Given the description of an element on the screen output the (x, y) to click on. 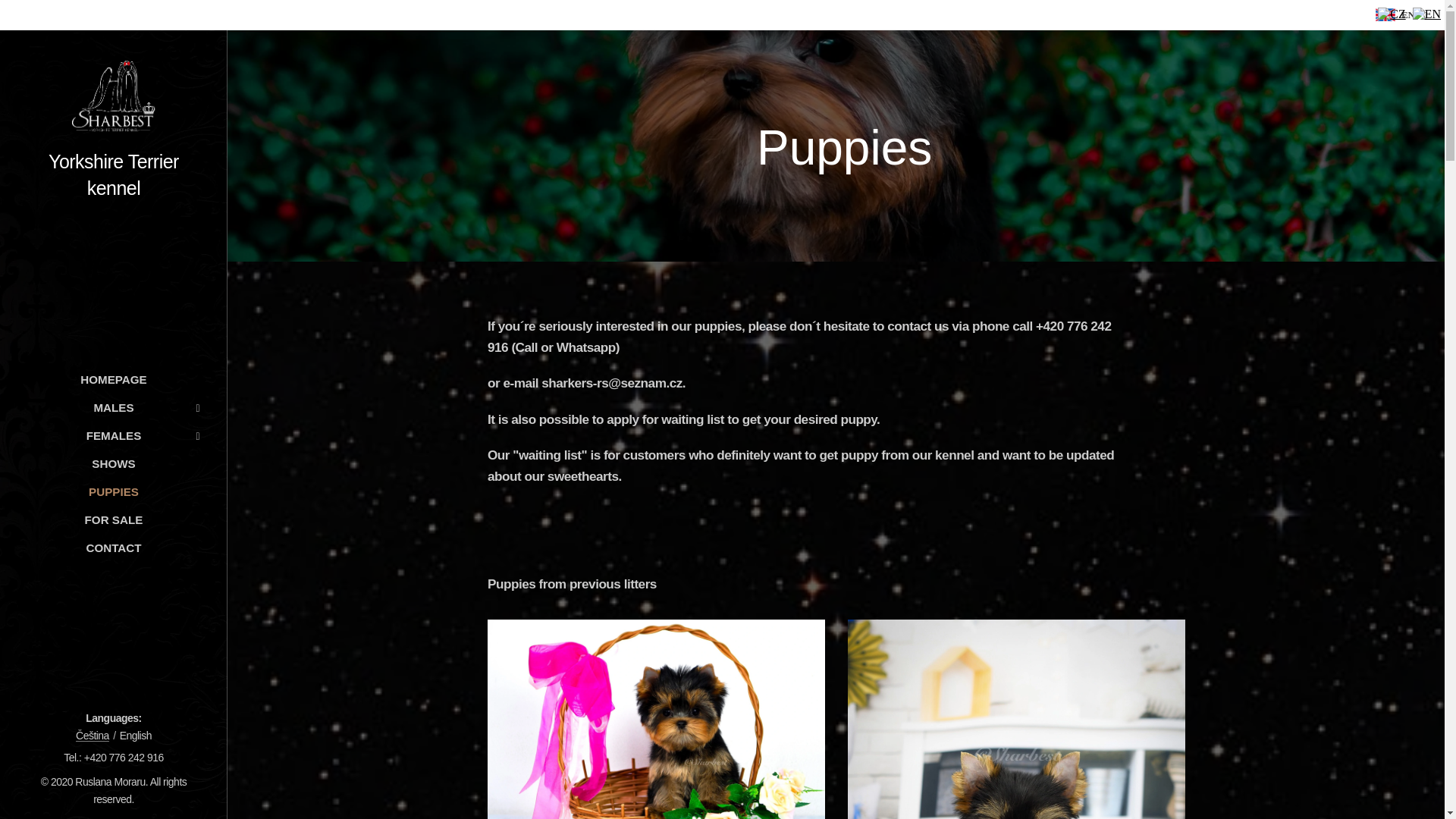
MALES (113, 407)
HOMEPAGE (113, 379)
SHOWS (113, 463)
FEMALES (113, 435)
FOR SALE (113, 519)
CONTACT (113, 547)
PUPPIES (113, 491)
Yorkshire Terrier kennel (114, 130)
